Given the description of an element on the screen output the (x, y) to click on. 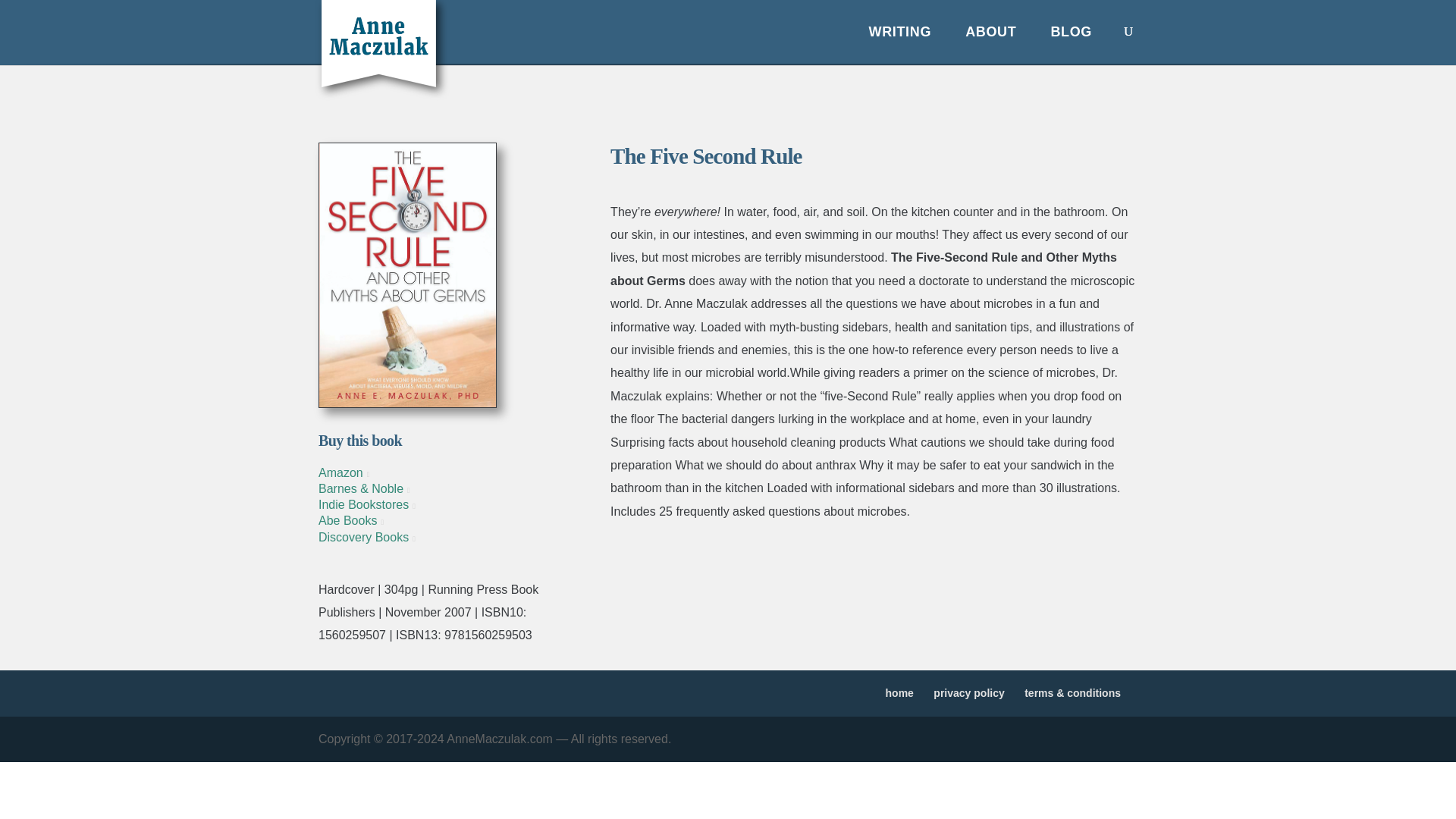
Abe Books (351, 520)
Indie Bookstores (366, 504)
ABOUT (990, 44)
Discovery Books (366, 536)
BLOG (1070, 44)
WRITING (900, 44)
privacy policy (968, 693)
Amazon (343, 472)
home (899, 693)
